Given the description of an element on the screen output the (x, y) to click on. 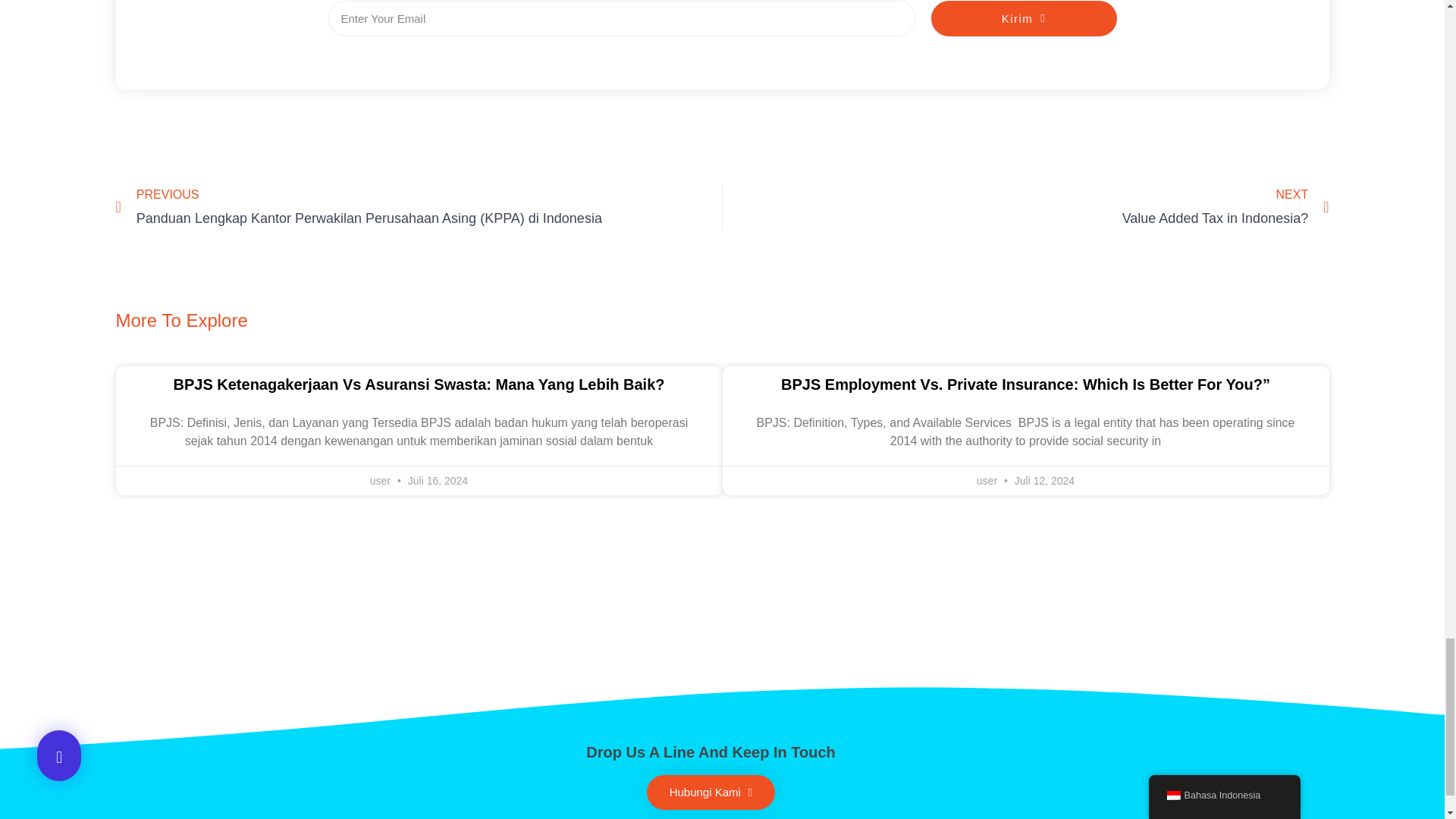
Hubungi Kami (1025, 207)
Kirim (711, 791)
